Given the description of an element on the screen output the (x, y) to click on. 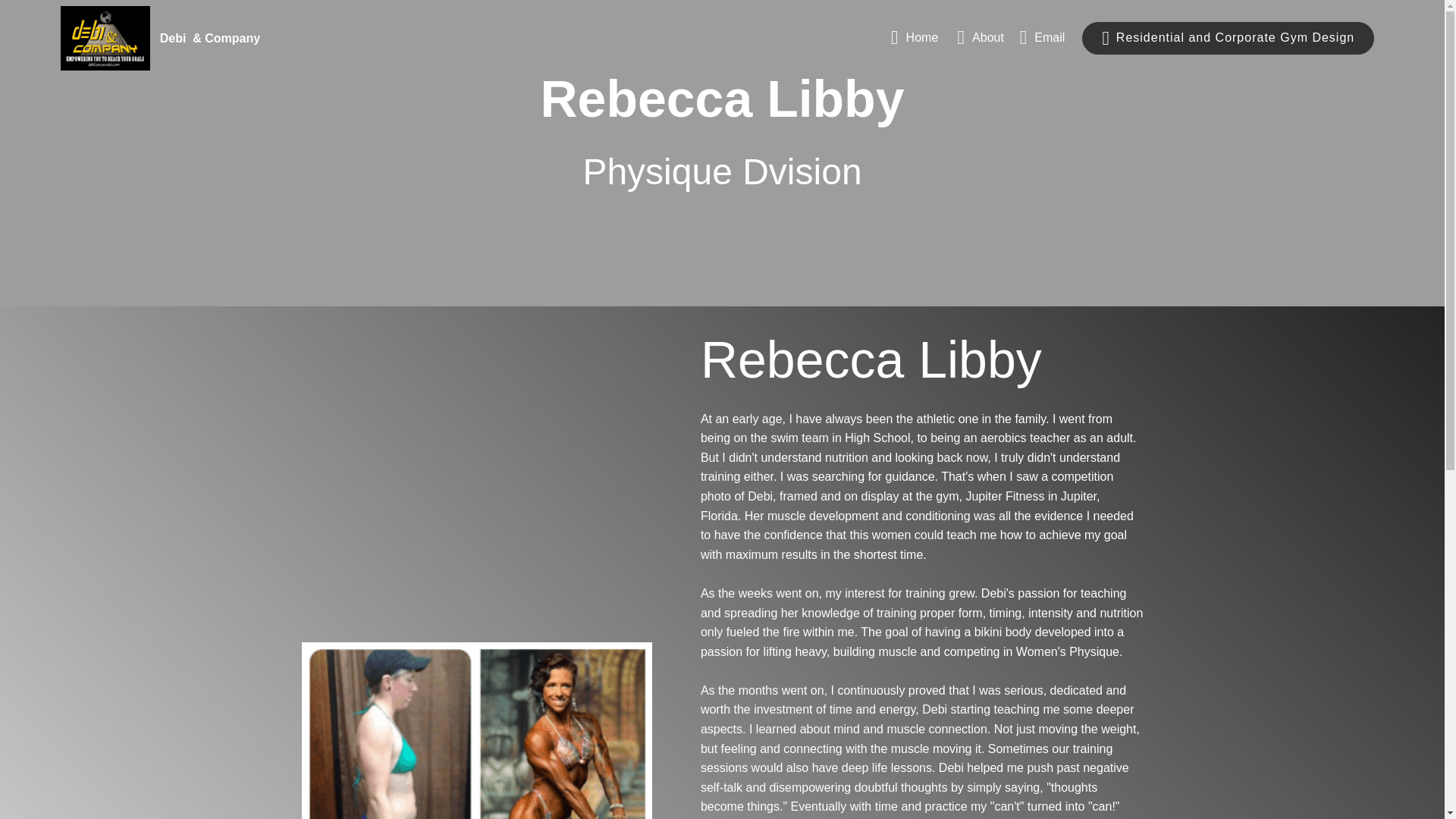
Home  (916, 37)
Email (1042, 37)
About (979, 37)
Residential and Corporate Gym Design (1227, 38)
